Given the description of an element on the screen output the (x, y) to click on. 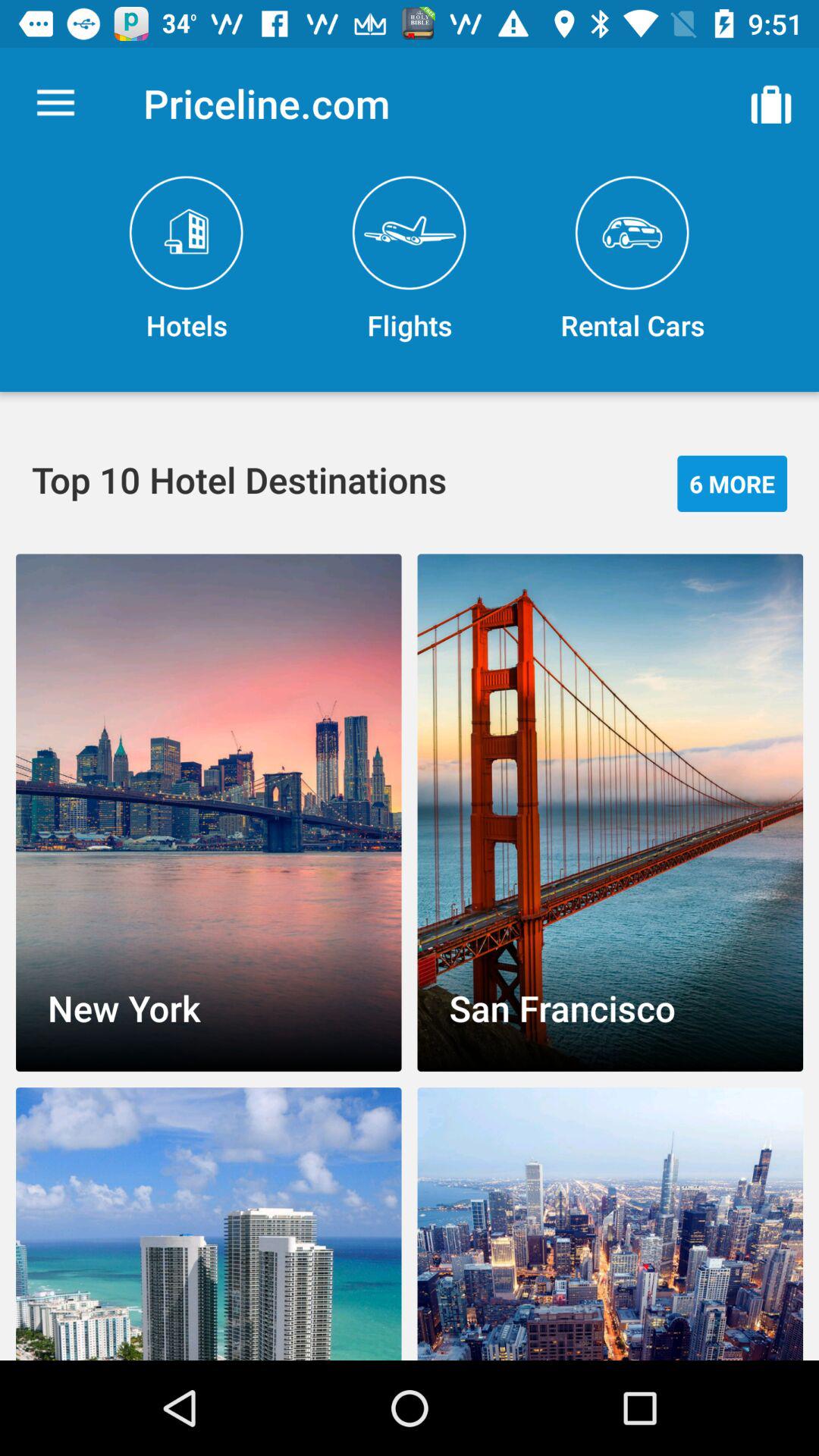
tap the flights icon (409, 259)
